Given the description of an element on the screen output the (x, y) to click on. 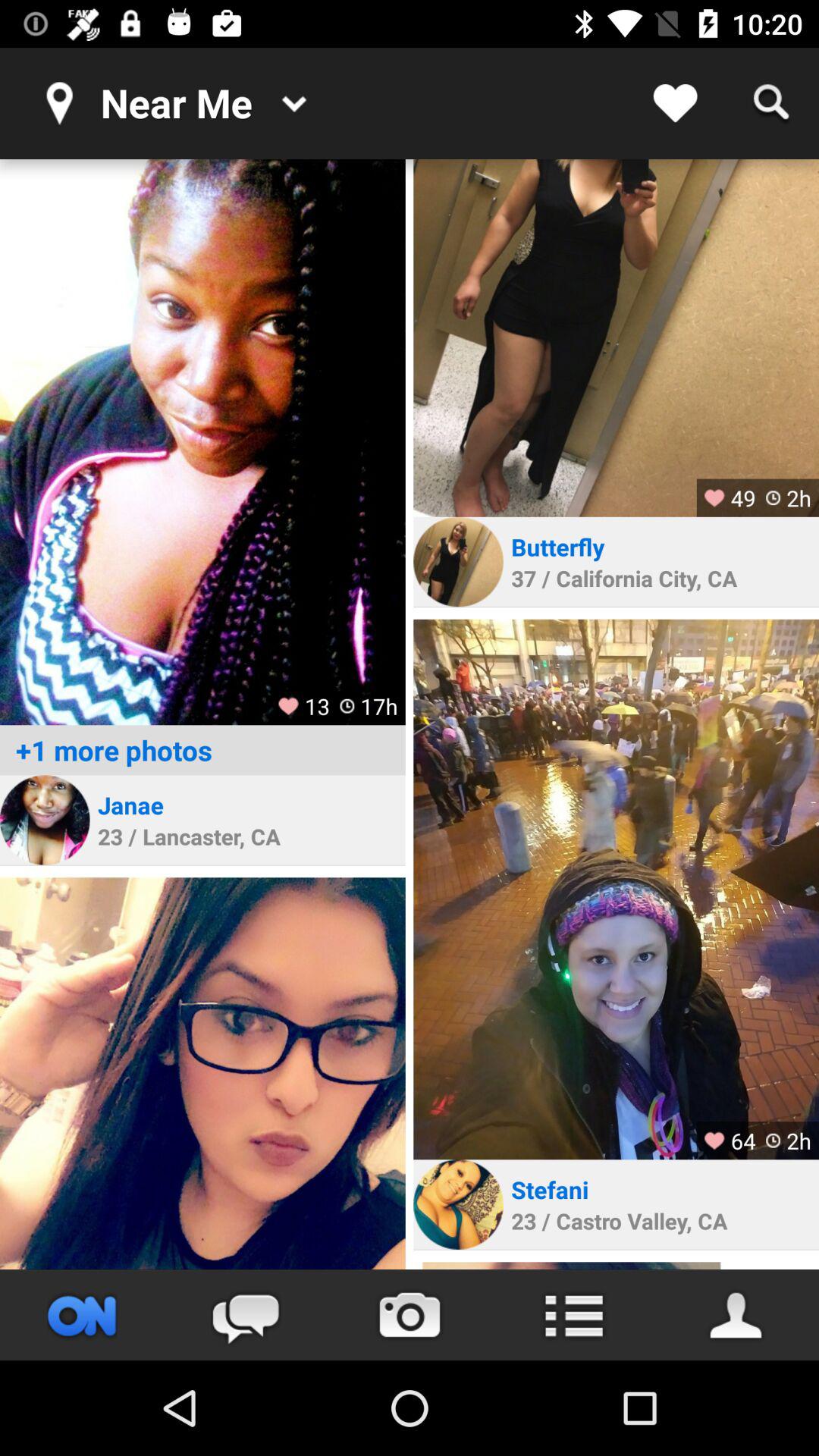
leave a comment (245, 1315)
